Given the description of an element on the screen output the (x, y) to click on. 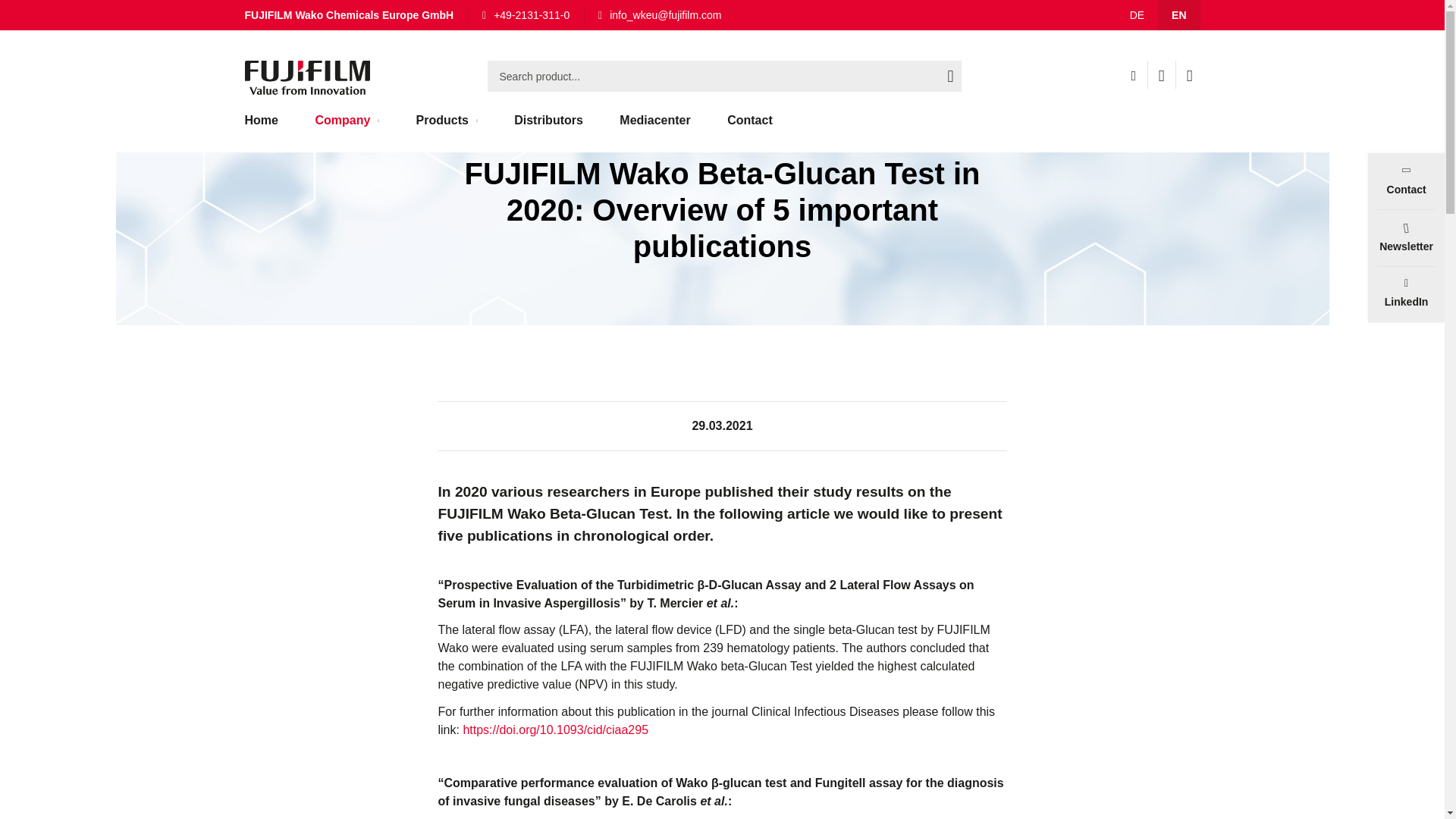
Mediacenter (654, 127)
Home (269, 127)
Home (261, 17)
Products (446, 127)
EN (1178, 15)
Company (347, 127)
FUJIFILM Wako Chemicals Europe GmbH - Switch to homepage (306, 77)
Products (446, 127)
DE (1136, 15)
Company (328, 17)
Mediacenter (654, 127)
Distributors (548, 127)
Company (347, 127)
Home (269, 127)
Distributors (548, 127)
